Given the description of an element on the screen output the (x, y) to click on. 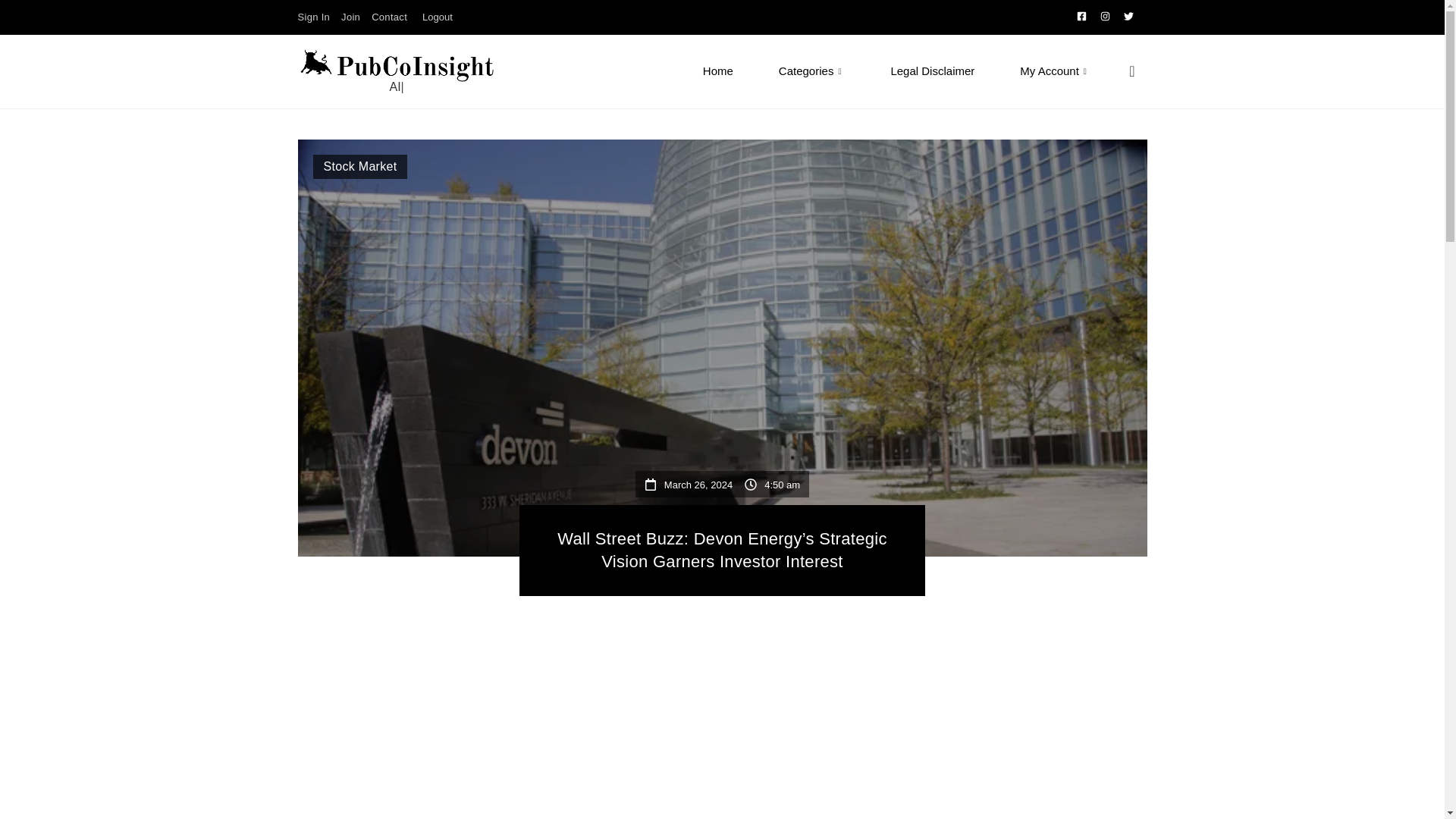
Legal Disclaimer (916, 71)
My Account (1039, 71)
Categories (797, 55)
Home (703, 51)
